Given the description of an element on the screen output the (x, y) to click on. 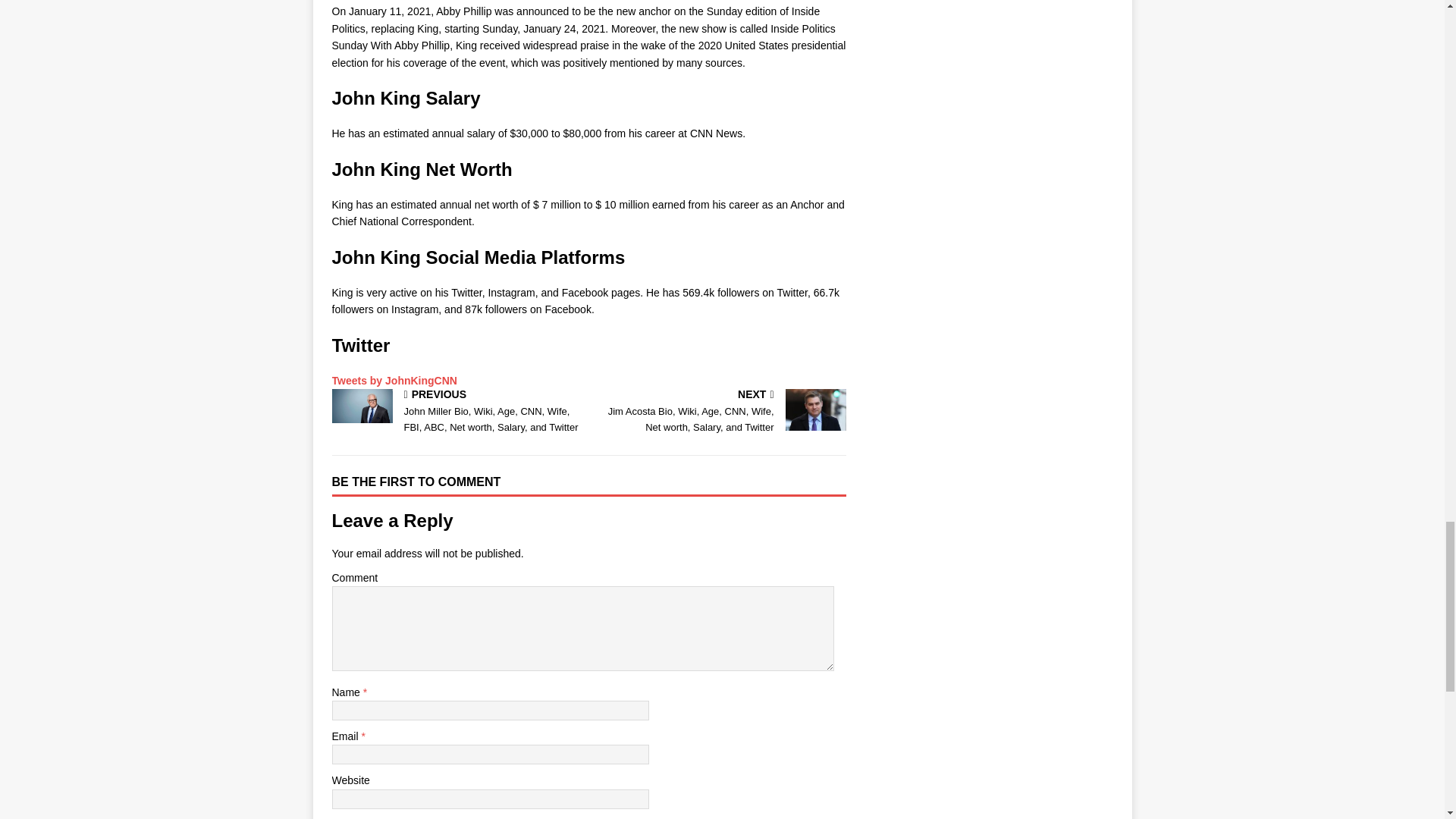
Tweets by JohnKingCNN (394, 380)
